Given the description of an element on the screen output the (x, y) to click on. 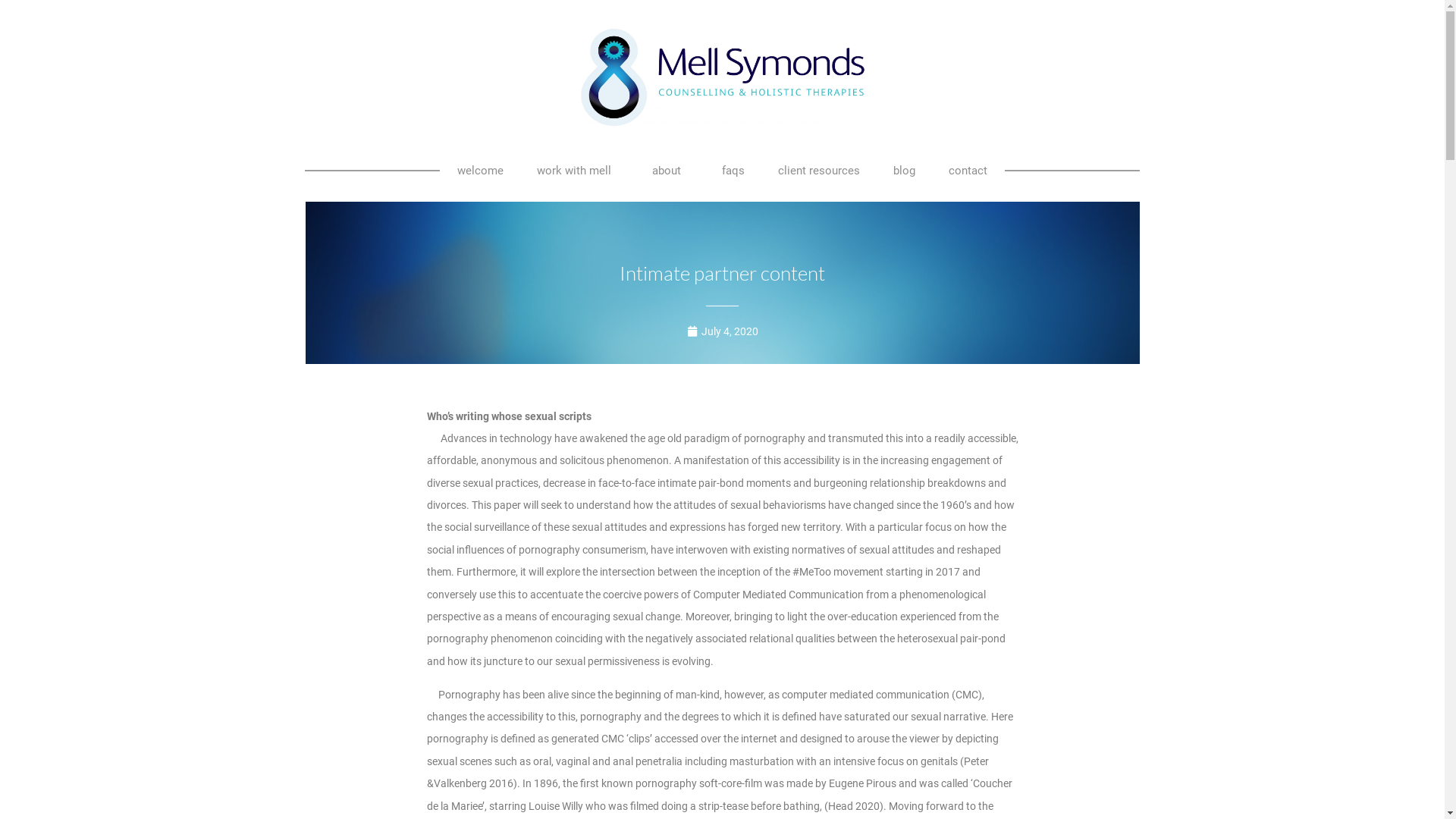
about Element type: text (669, 170)
welcome Element type: text (480, 170)
client resources Element type: text (818, 170)
contact Element type: text (967, 170)
faqs Element type: text (732, 170)
July 4, 2020 Element type: text (722, 331)
blog Element type: text (904, 170)
work with mell Element type: text (577, 170)
